Given the description of an element on the screen output the (x, y) to click on. 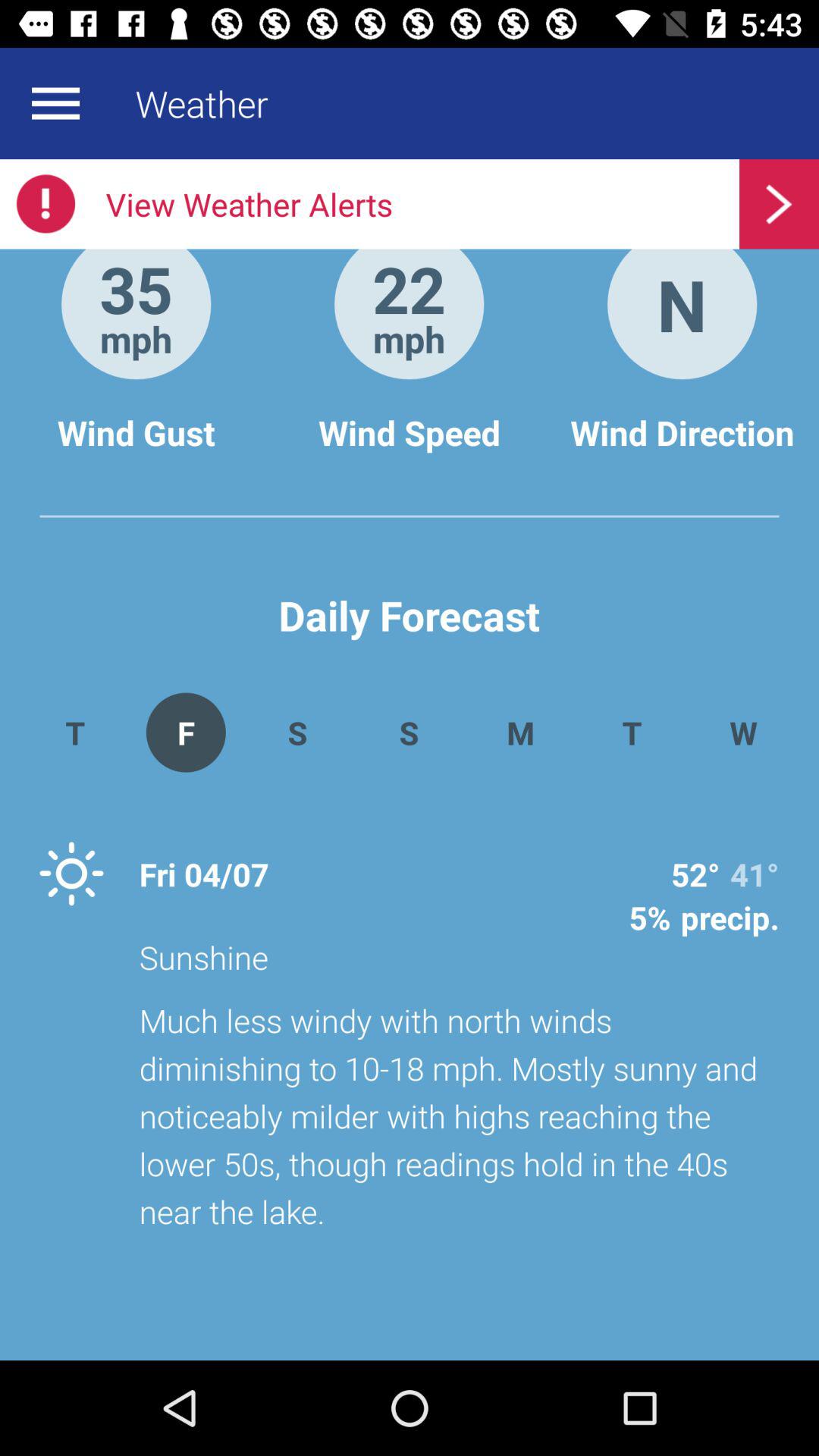
click the app above sunshine app (520, 732)
